Given the description of an element on the screen output the (x, y) to click on. 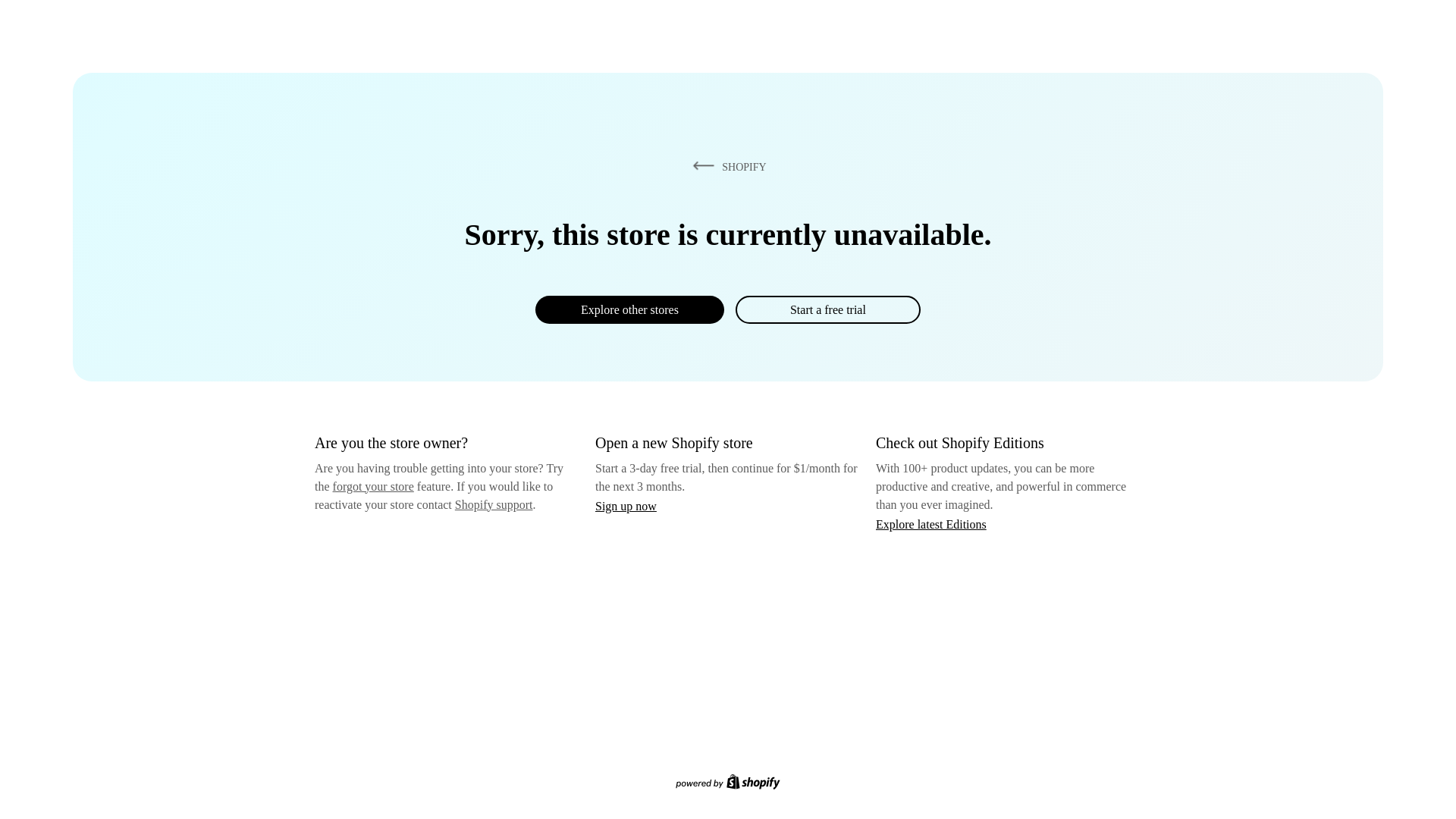
forgot your store (373, 486)
Shopify support (493, 504)
Explore latest Editions (931, 523)
Explore other stores (629, 309)
Sign up now (625, 505)
Start a free trial (827, 309)
SHOPIFY (726, 166)
